Given the description of an element on the screen output the (x, y) to click on. 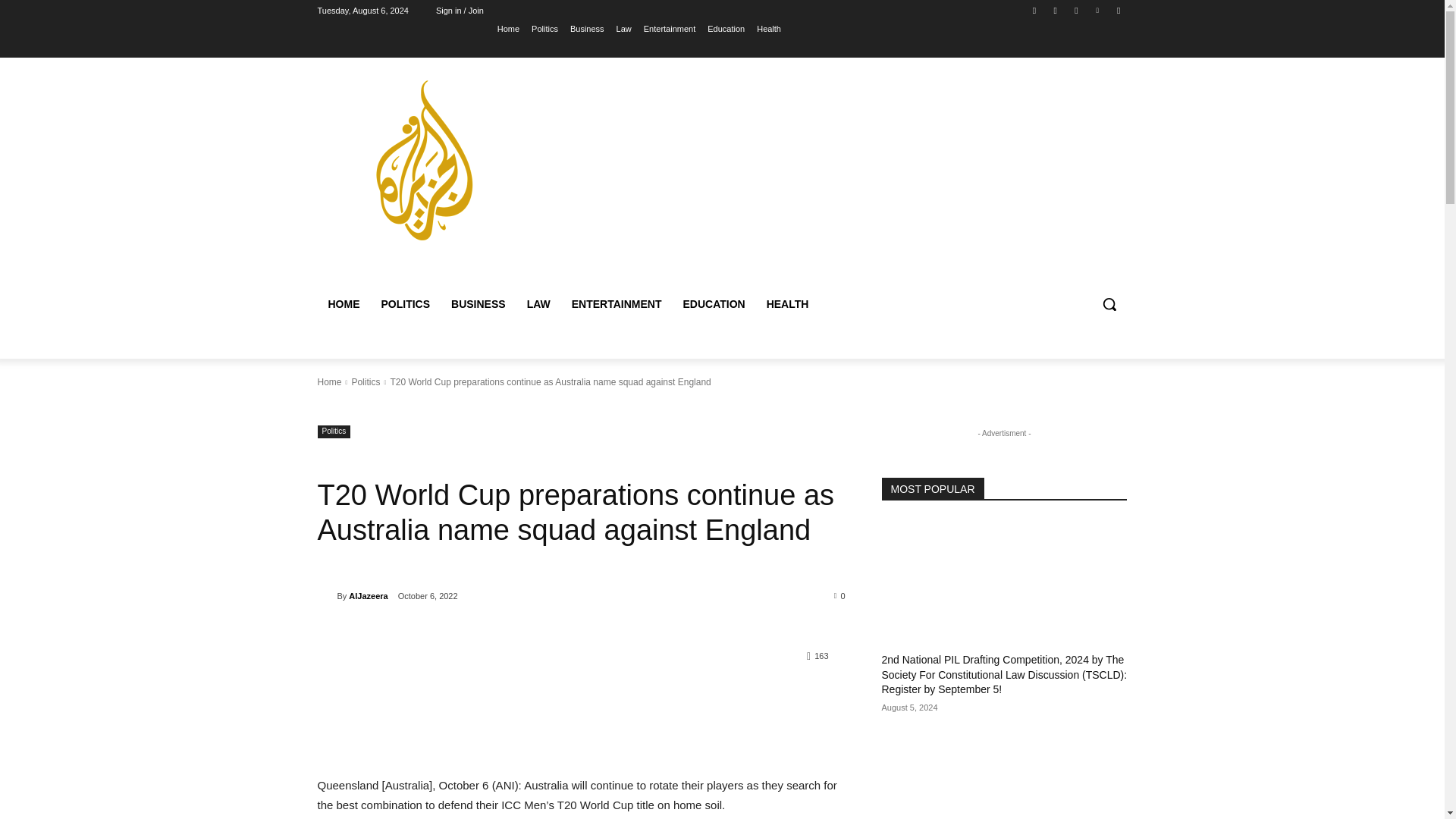
Youtube (1117, 9)
POLITICS (405, 303)
Health (768, 28)
0 (839, 594)
AlJazeera (368, 595)
Business (587, 28)
Education (725, 28)
Instagram (1055, 9)
Entertainment (669, 28)
LAW (538, 303)
Home (328, 381)
EDUCATION (713, 303)
HOME (343, 303)
Politics (544, 28)
Twitter (1075, 9)
